Given the description of an element on the screen output the (x, y) to click on. 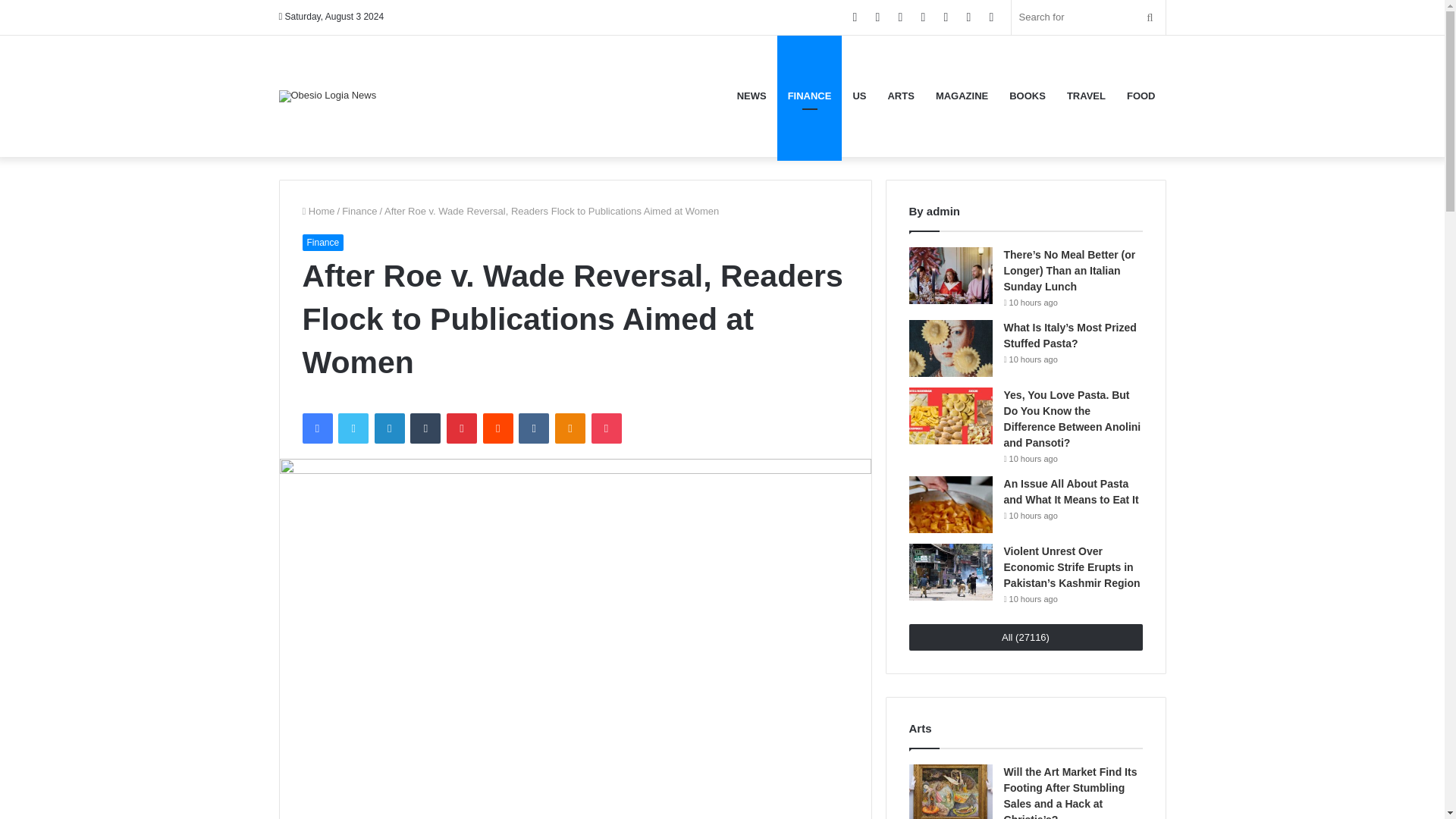
VKontakte (533, 428)
Finance (322, 241)
Reddit (498, 428)
VKontakte (533, 428)
Finance (359, 210)
Tumblr (425, 428)
Pinterest (461, 428)
Pocket (606, 428)
LinkedIn (389, 428)
Facebook (316, 428)
